Given the description of an element on the screen output the (x, y) to click on. 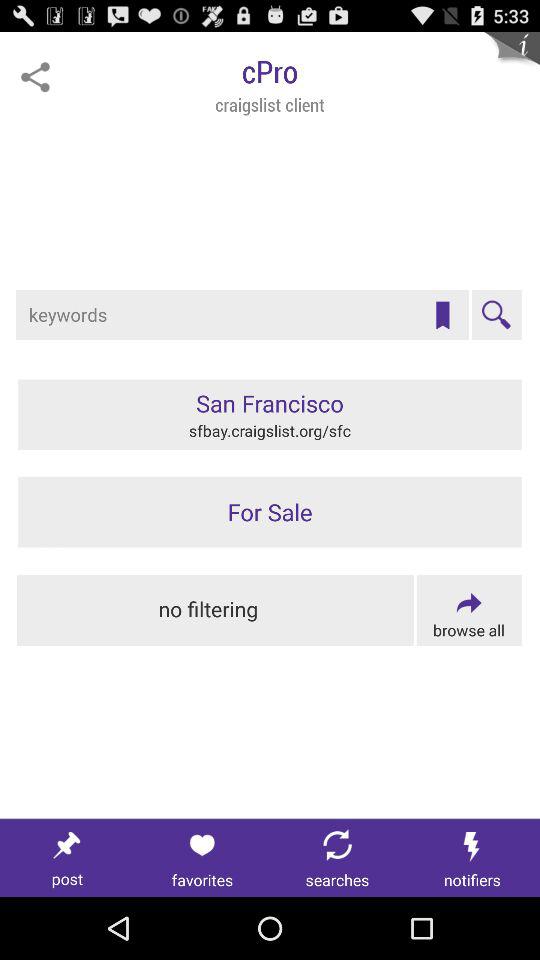
execute keyword search (496, 315)
